Given the description of an element on the screen output the (x, y) to click on. 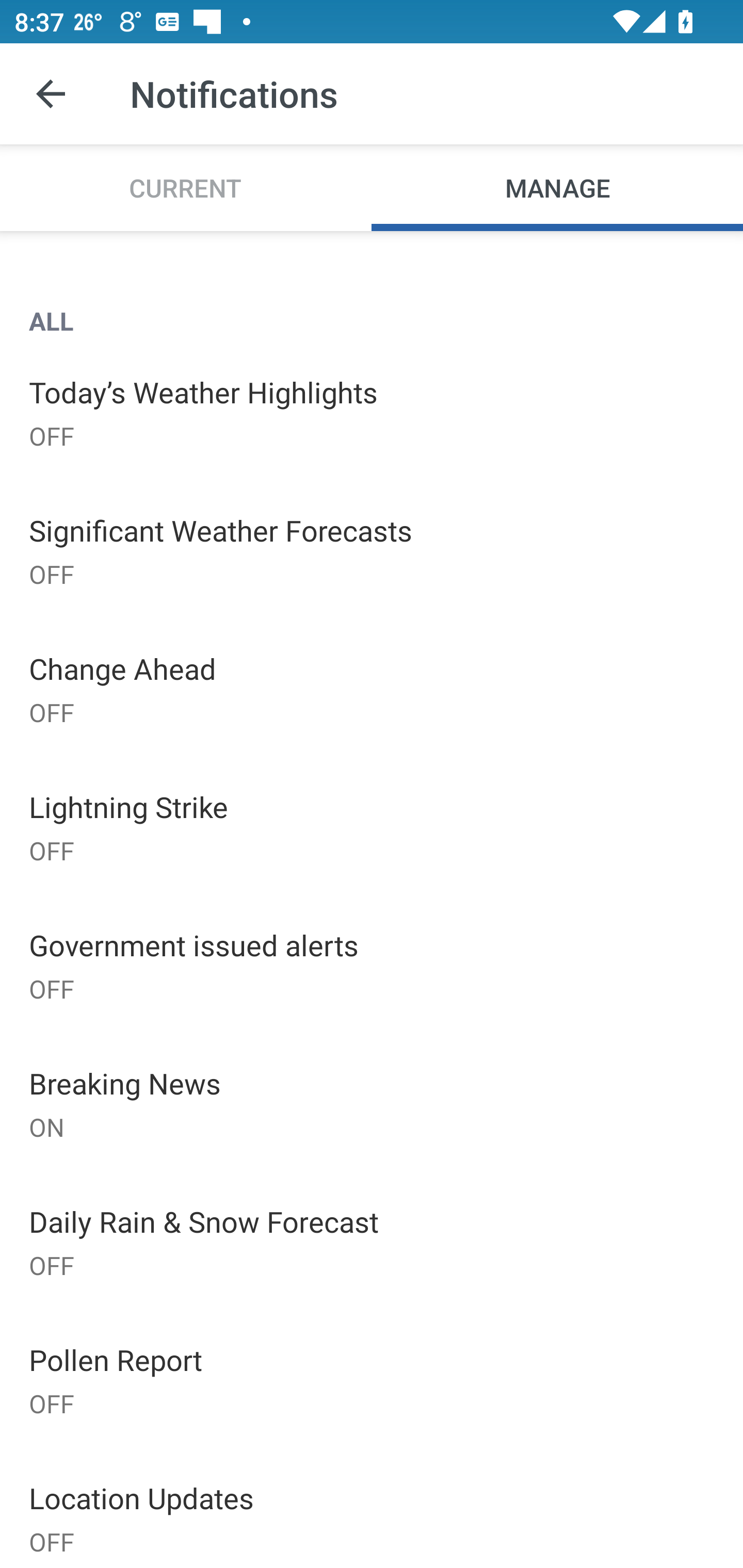
Navigate up (50, 93)
Current Tab CURRENT (185, 187)
Today’s Weather Highlights OFF (371, 412)
Significant Weather Forecasts OFF (371, 550)
Change Ahead OFF (371, 688)
Lightning Strike OFF (371, 827)
Government issued alerts OFF (371, 965)
Breaking News ON (371, 1103)
Daily Rain & Snow Forecast OFF (371, 1241)
Pollen Report OFF (371, 1379)
Location Updates OFF (371, 1508)
